Given the description of an element on the screen output the (x, y) to click on. 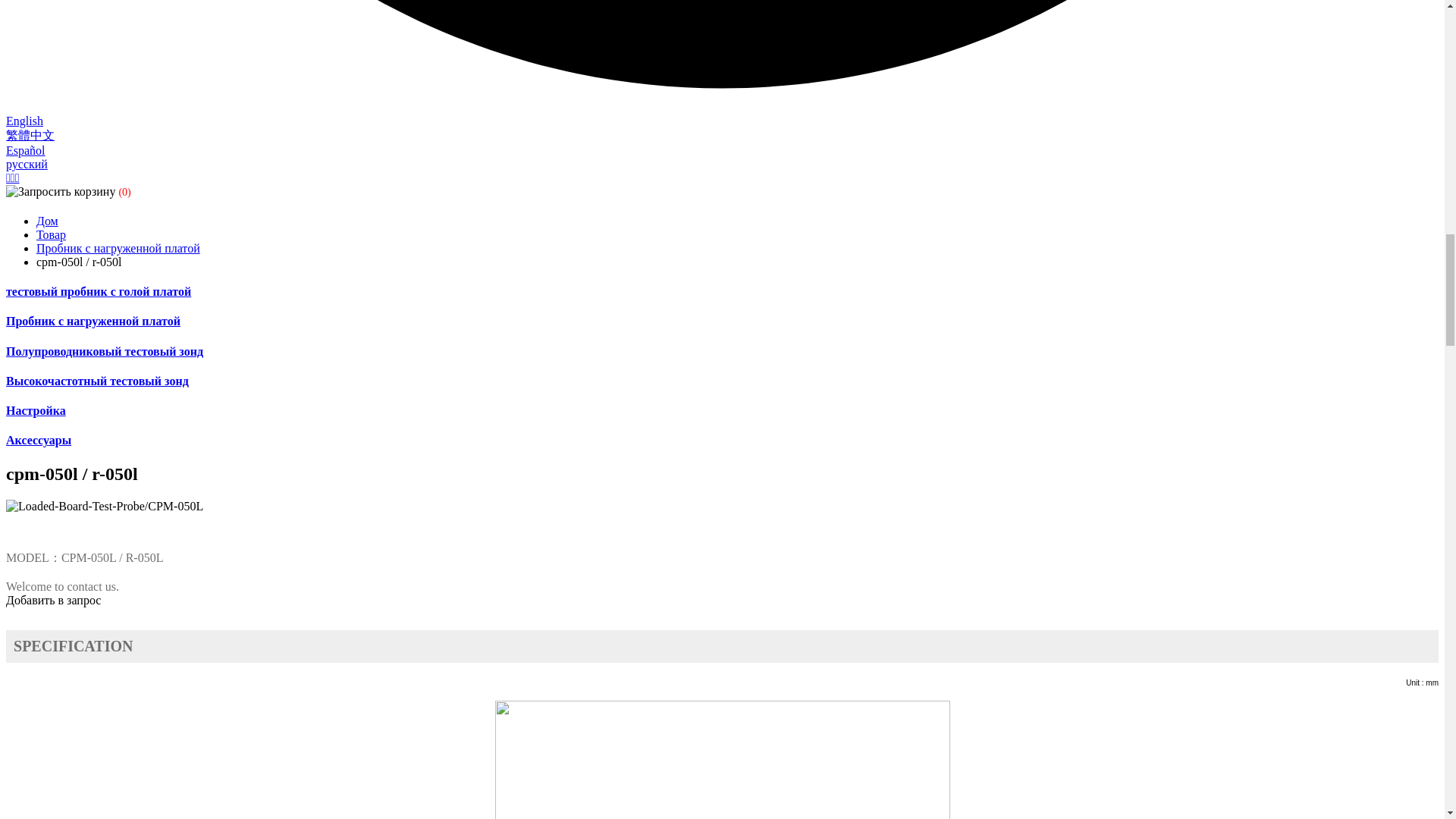
English (24, 120)
inquiryCart (69, 191)
English (24, 120)
